Given the description of an element on the screen output the (x, y) to click on. 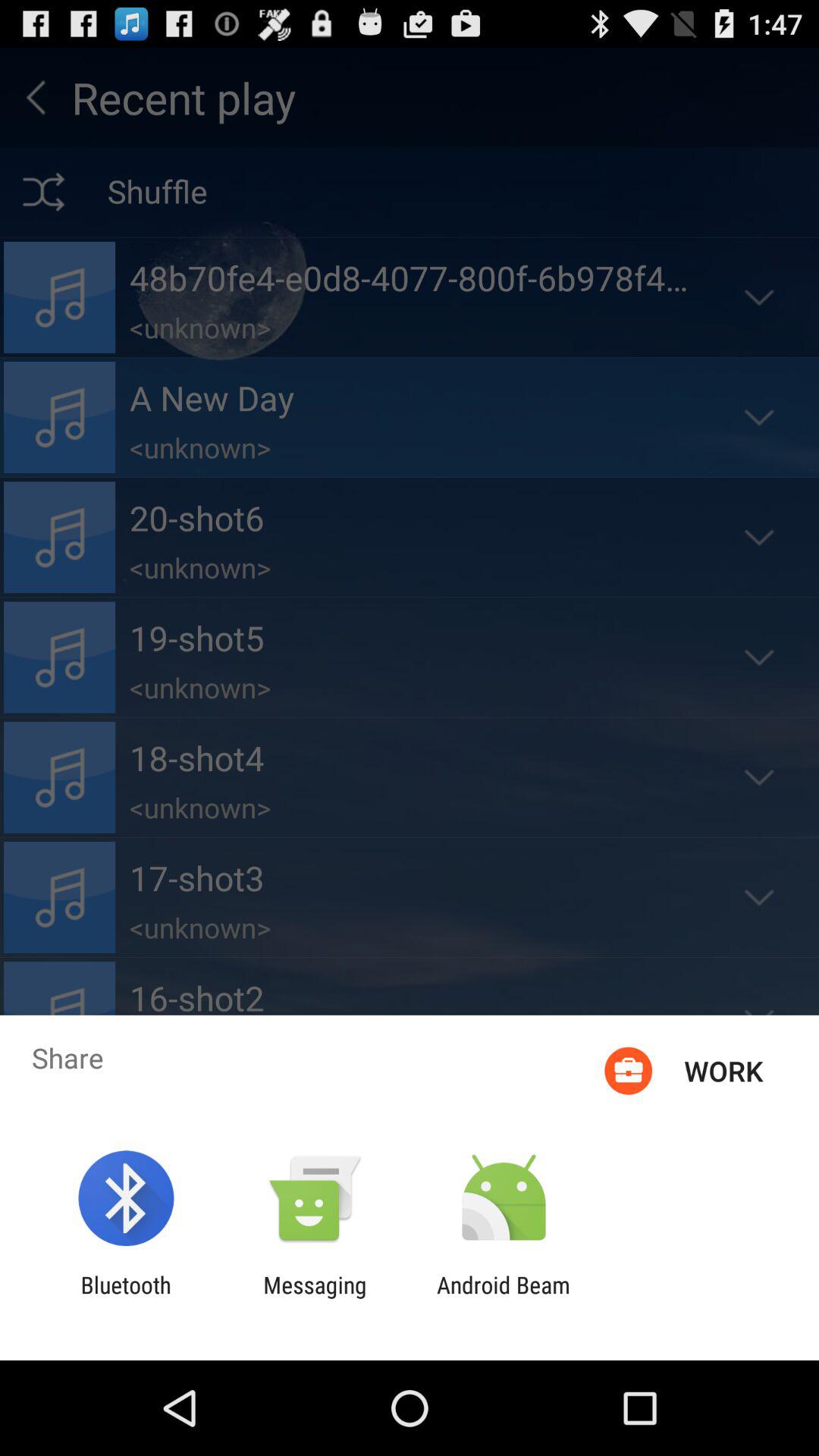
launch the item next to messaging app (125, 1298)
